Given the description of an element on the screen output the (x, y) to click on. 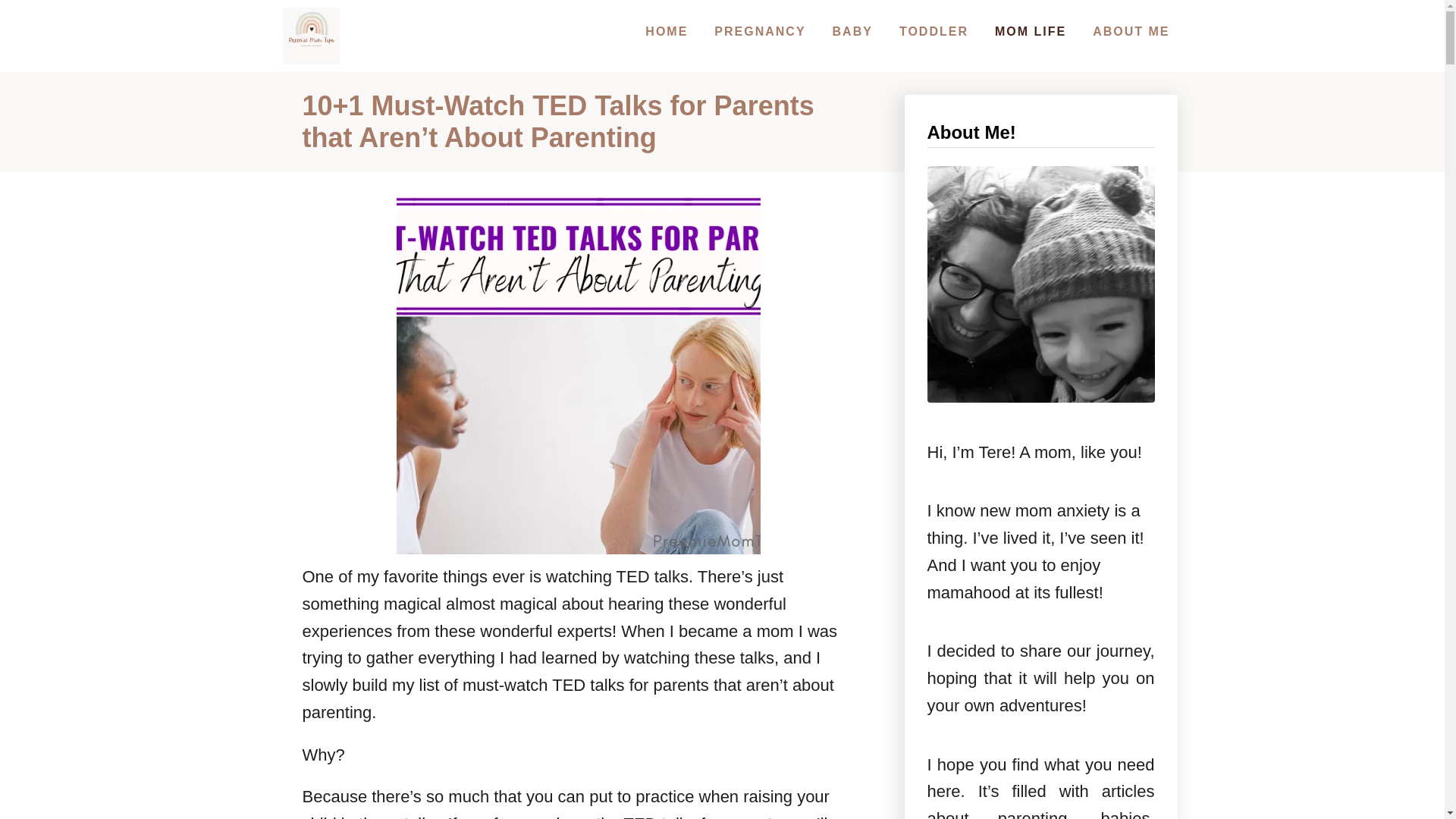
PREGNANCY (759, 31)
MOM LIFE (1030, 31)
Preemie Mom Tips (310, 35)
BABY (852, 31)
HOME (666, 31)
TODDLER (933, 31)
ABOUT ME (1130, 31)
